Given the description of an element on the screen output the (x, y) to click on. 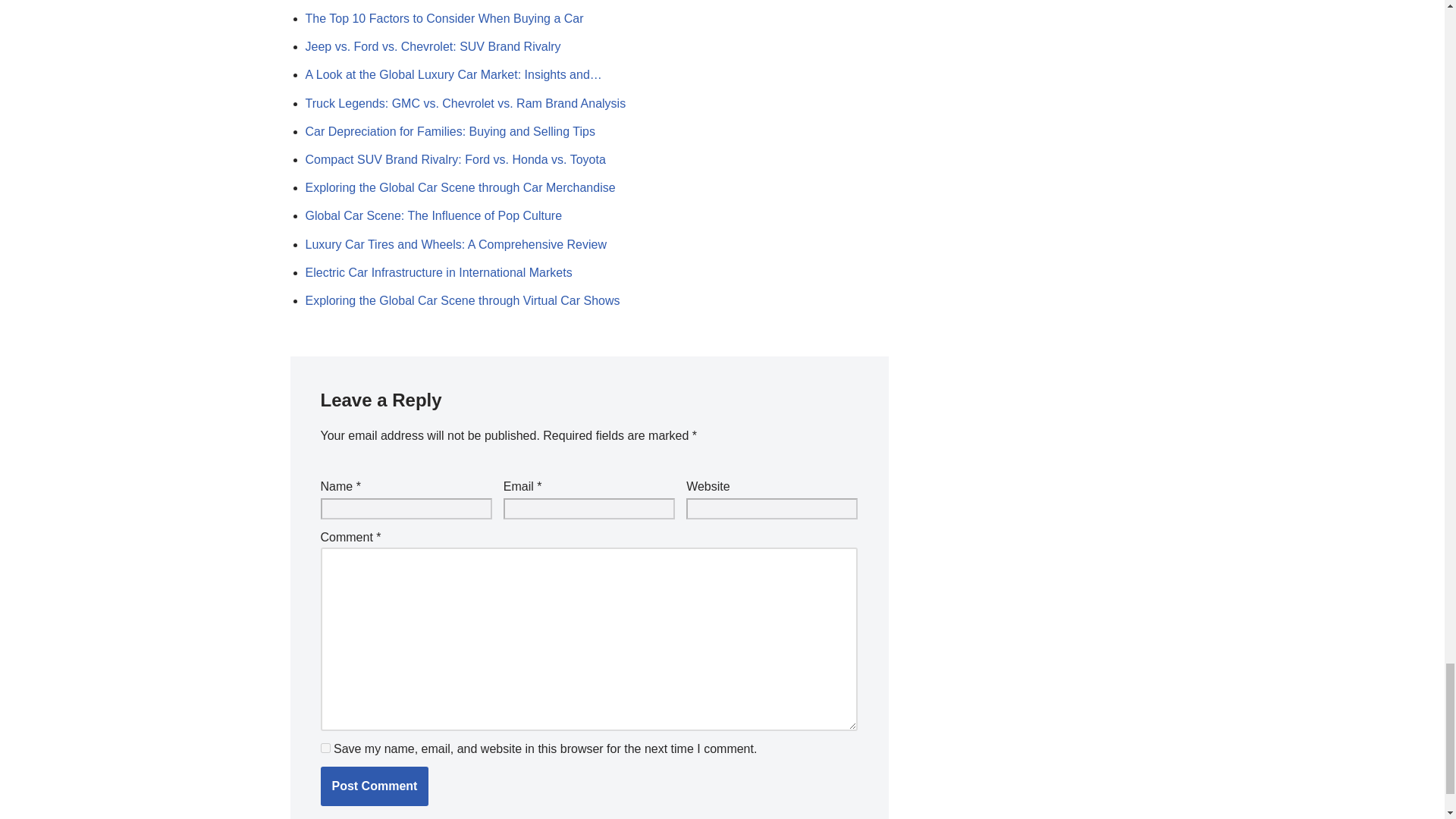
Post Comment (374, 785)
yes (325, 747)
